Given the description of an element on the screen output the (x, y) to click on. 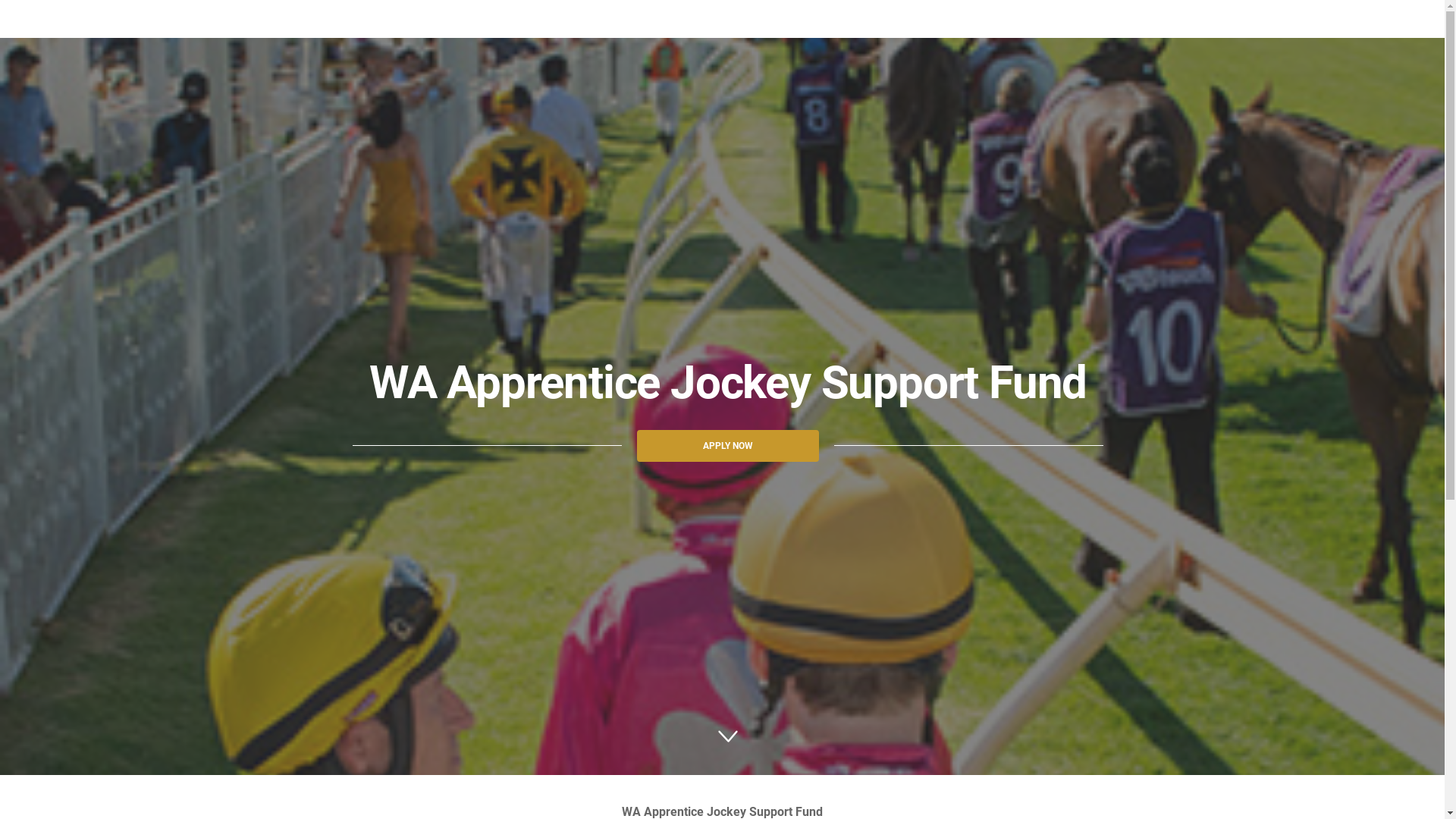
APPLY NOW Element type: text (728, 445)
